Given the description of an element on the screen output the (x, y) to click on. 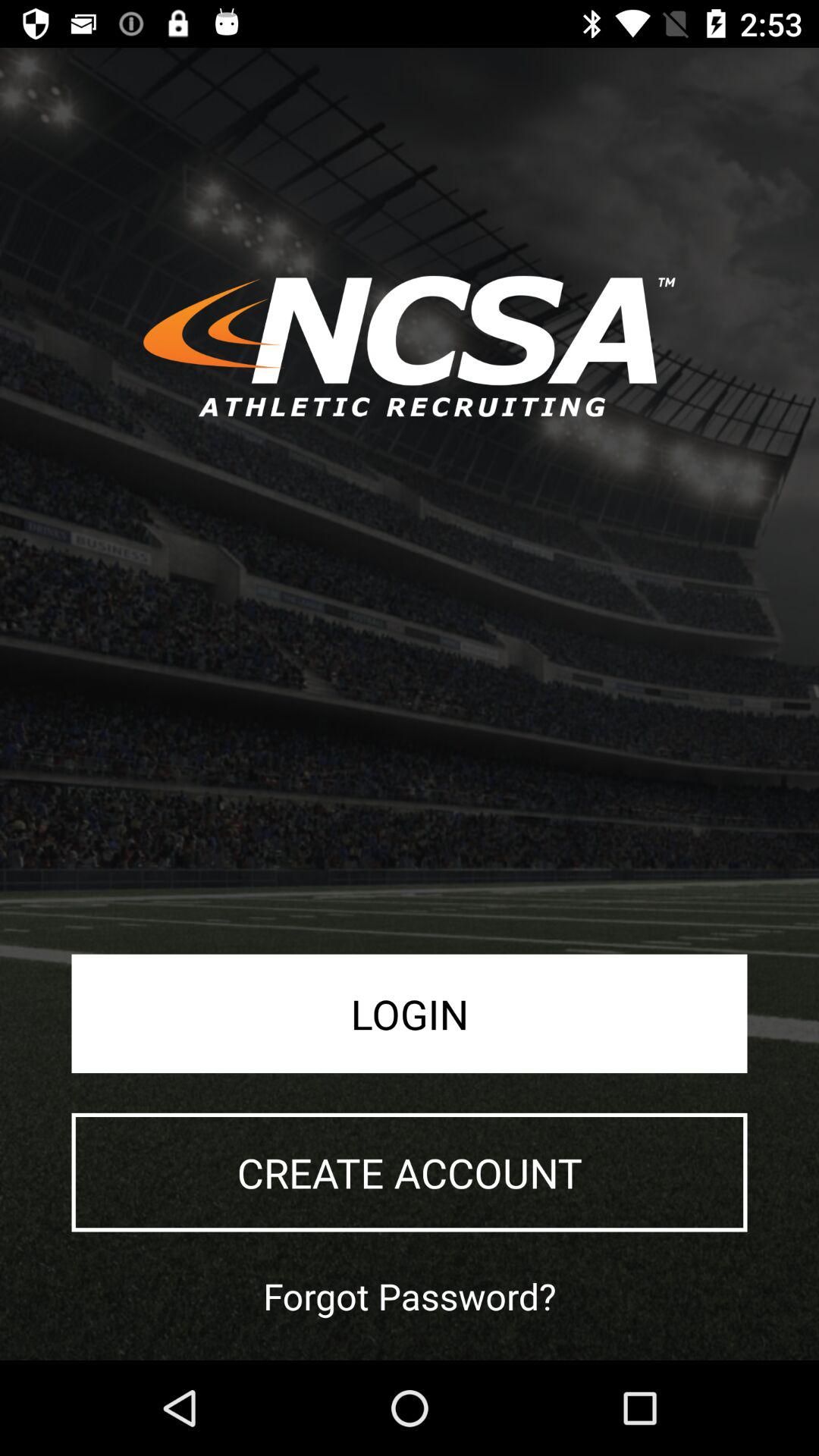
jump to create account icon (409, 1172)
